Given the description of an element on the screen output the (x, y) to click on. 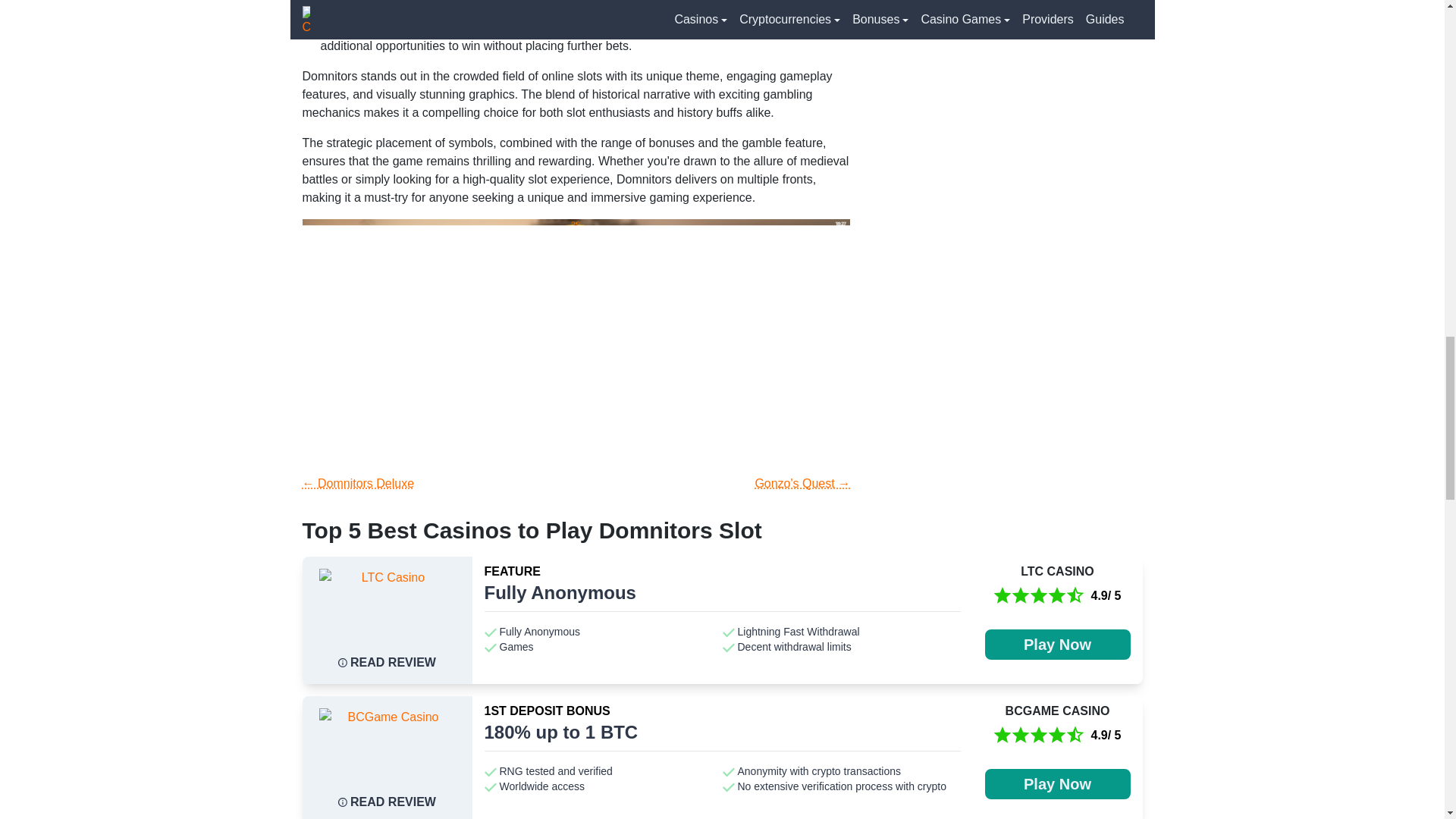
full star (1038, 596)
half empty star (1074, 596)
full star (1056, 596)
full star (1001, 596)
full star (1038, 735)
full star (1020, 735)
full star (1056, 735)
full star (1001, 735)
full star (1020, 596)
half empty star (1074, 735)
